Given the description of an element on the screen output the (x, y) to click on. 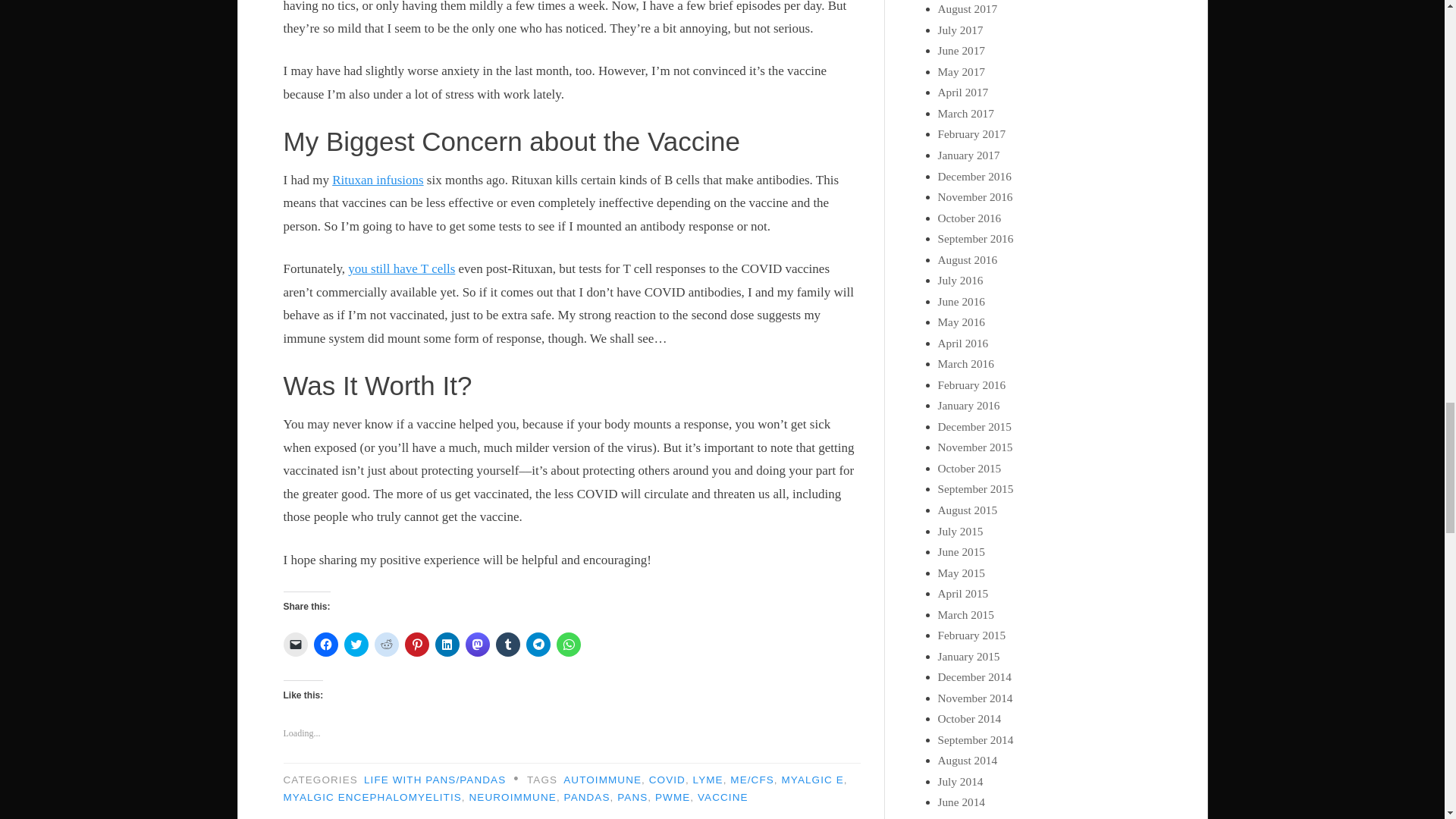
Click to share on Facebook (325, 644)
Click to share on Mastodon (477, 644)
Click to share on WhatsApp (568, 644)
Click to share on LinkedIn (447, 644)
Click to share on Telegram (537, 644)
Rituxan infusions (377, 179)
Click to share on Twitter (355, 644)
Click to email a link to a friend (295, 644)
Click to share on Pinterest (416, 644)
Click to share on Tumblr (507, 644)
